Given the description of an element on the screen output the (x, y) to click on. 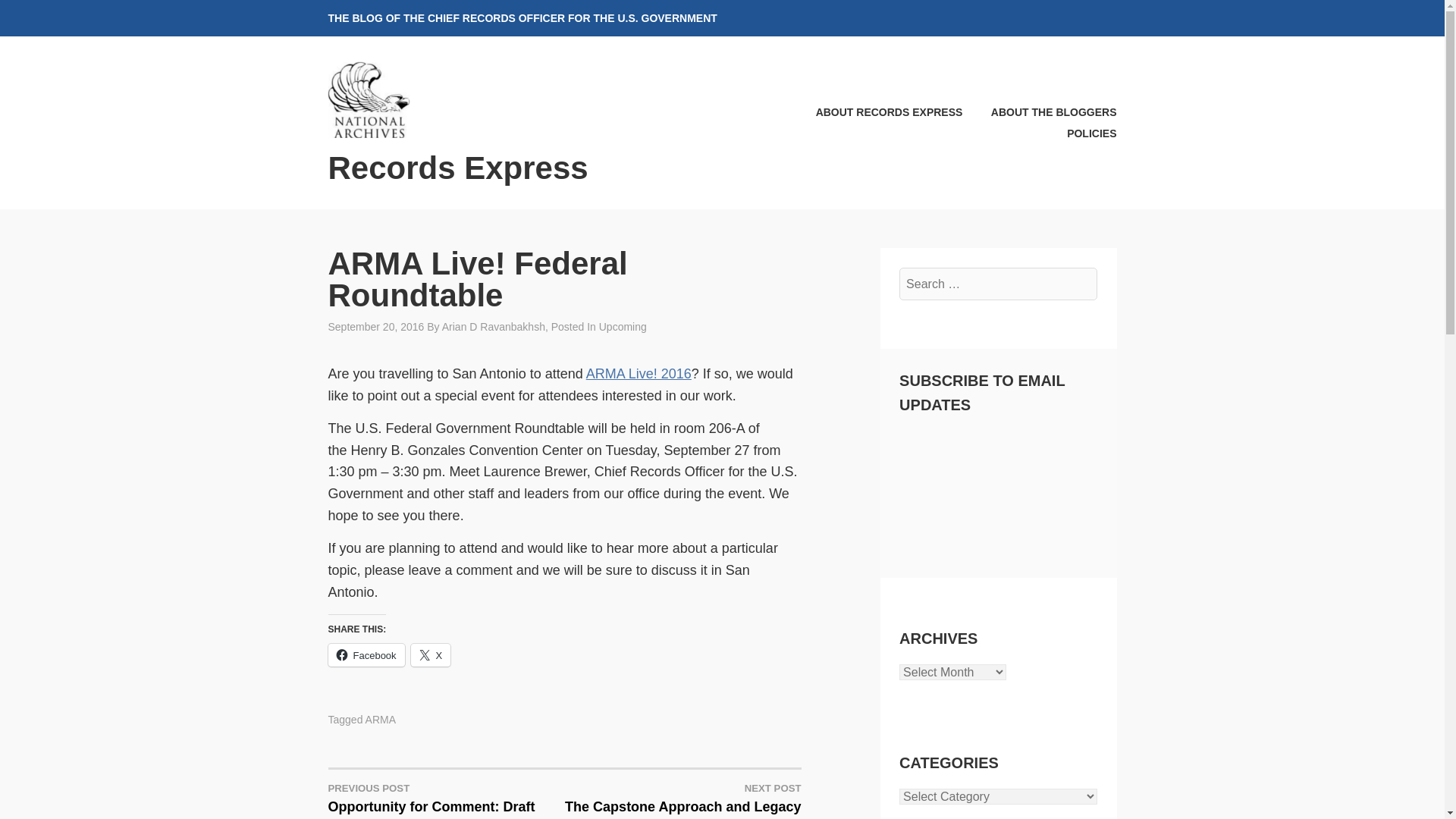
ABOUT RECORDS EXPRESS (876, 111)
ARMA Live! 2016 (638, 373)
Click to share on X (430, 654)
POLICIES (1079, 133)
X (430, 654)
ABOUT THE BLOGGERS (682, 799)
Arian D Ravanbakhsh (1040, 111)
ARMA (493, 326)
